Given the description of an element on the screen output the (x, y) to click on. 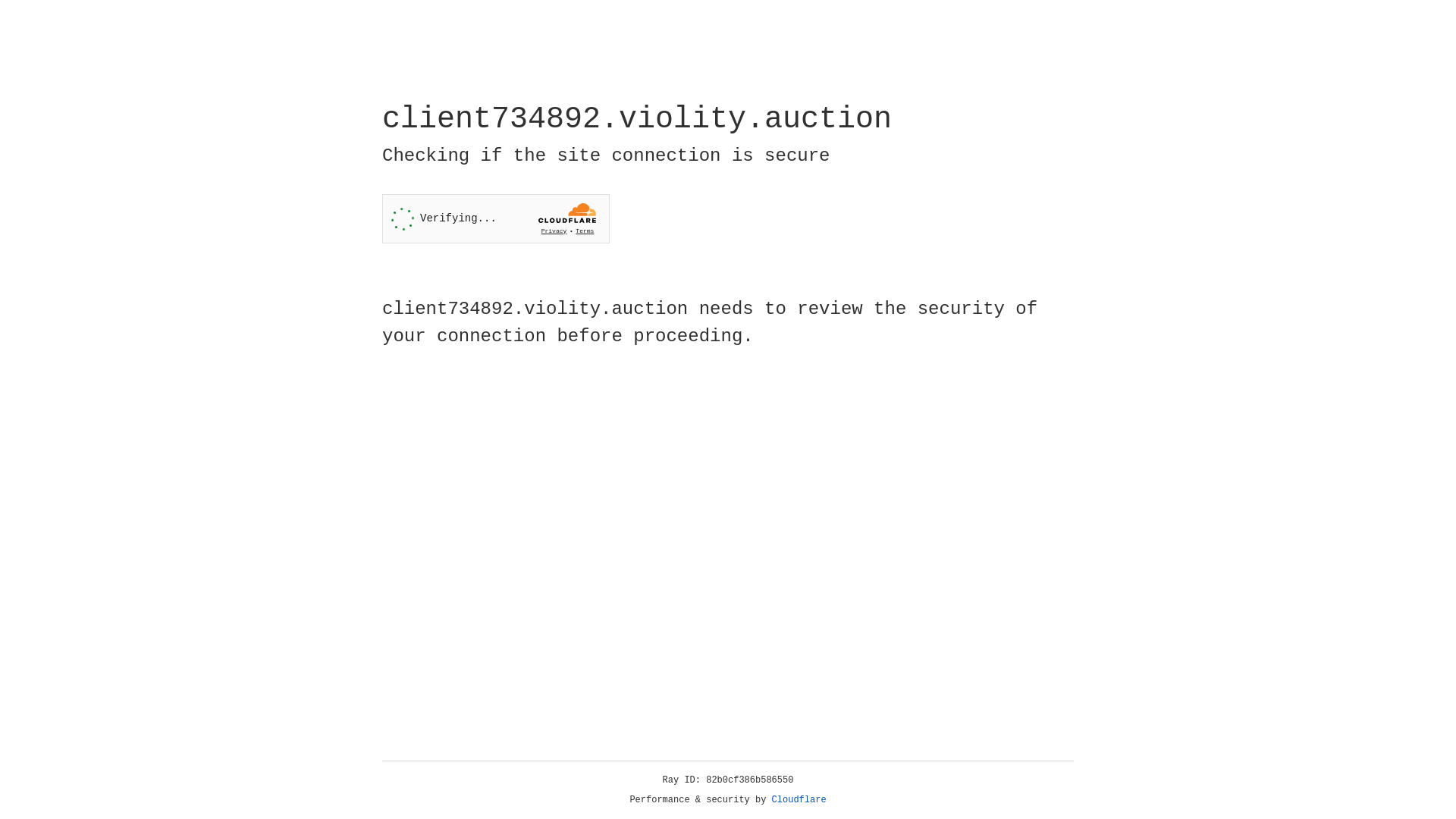
Cloudflare Element type: text (798, 799)
Widget containing a Cloudflare security challenge Element type: hover (495, 218)
